Given the description of an element on the screen output the (x, y) to click on. 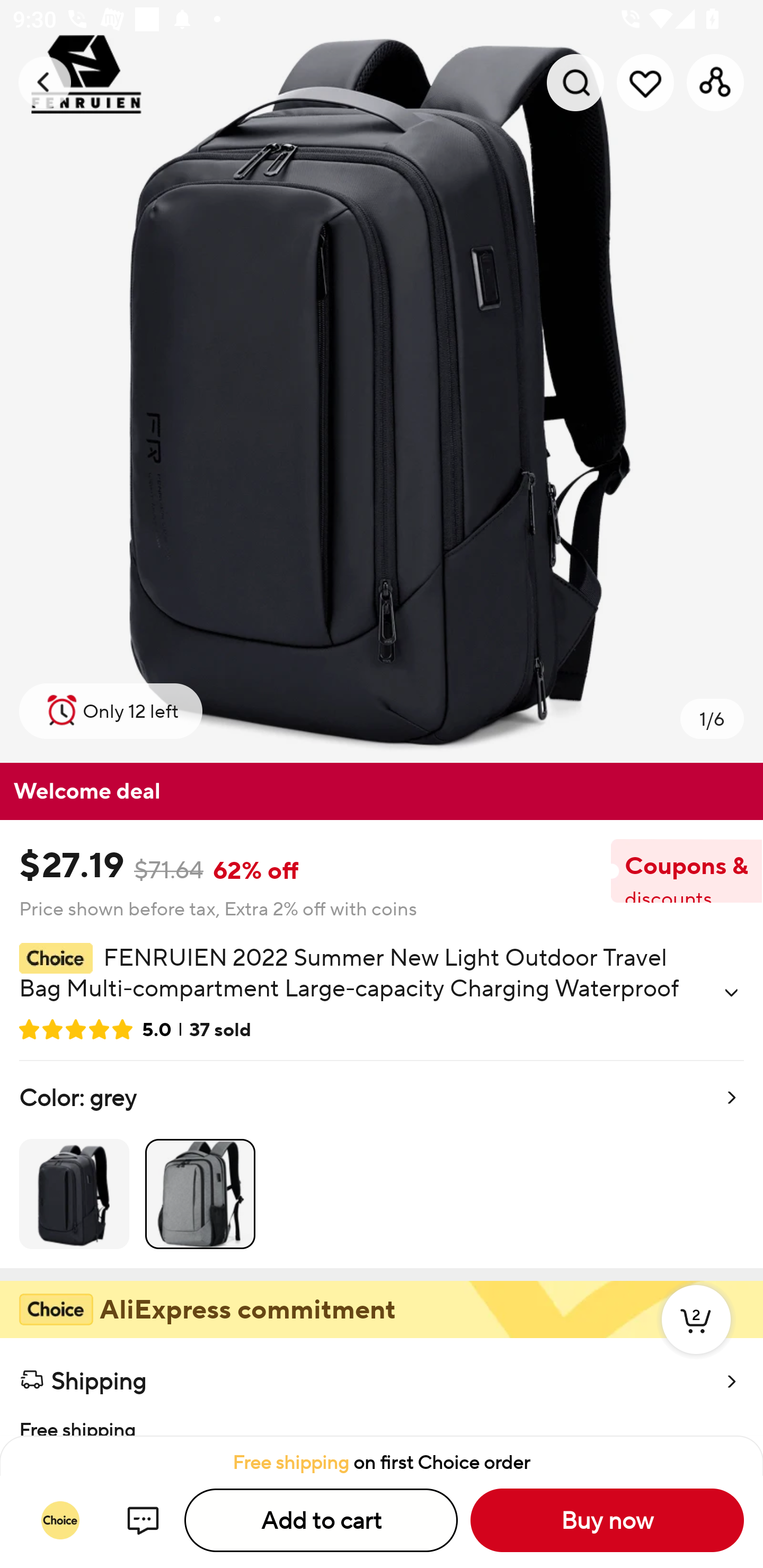
Navigate up (44, 82)
 (730, 992)
Color: grey  (381, 1164)
2 (695, 1338)
Shipping  Free shipping  (381, 1386)
Add to cart (320, 1520)
Buy now (606, 1520)
